Given the description of an element on the screen output the (x, y) to click on. 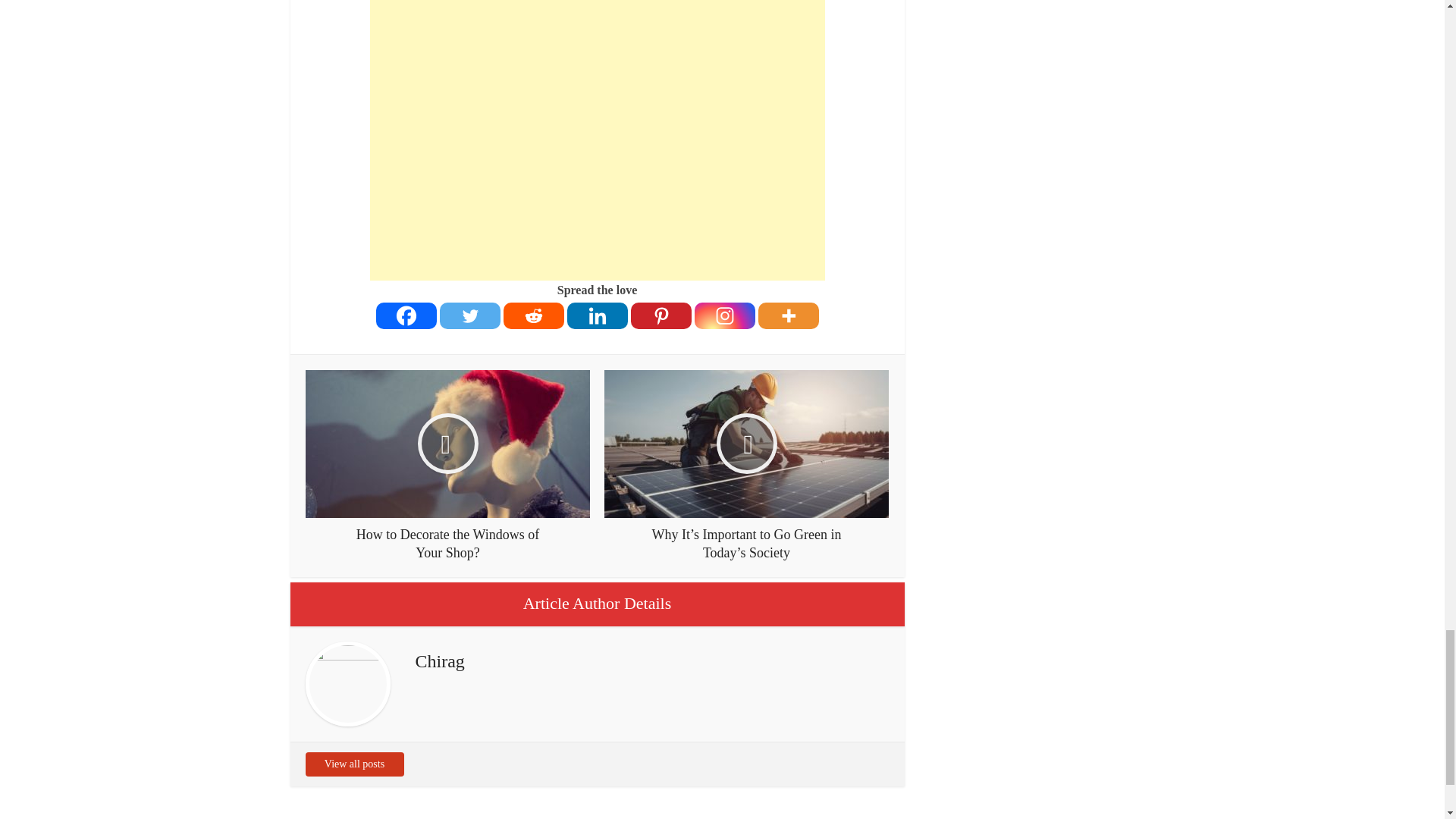
More (788, 315)
How to Decorate the Windows of Your Shop? (447, 465)
Pinterest (660, 315)
View all posts (353, 764)
